Given the description of an element on the screen output the (x, y) to click on. 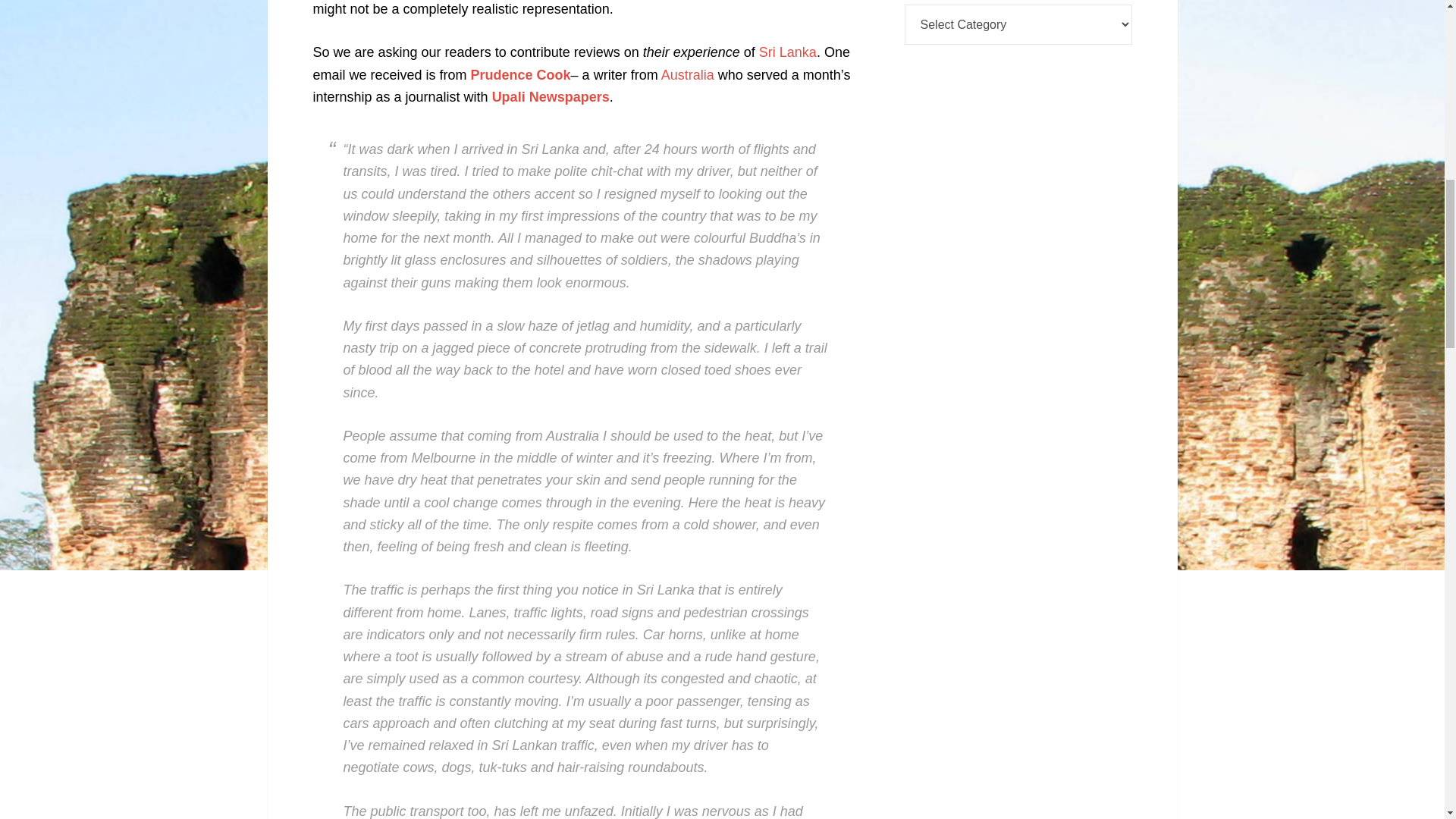
Upali Newspapers (551, 96)
Australia (687, 74)
Sri Lanka (787, 52)
Prudence Cook (520, 74)
